Given the description of an element on the screen output the (x, y) to click on. 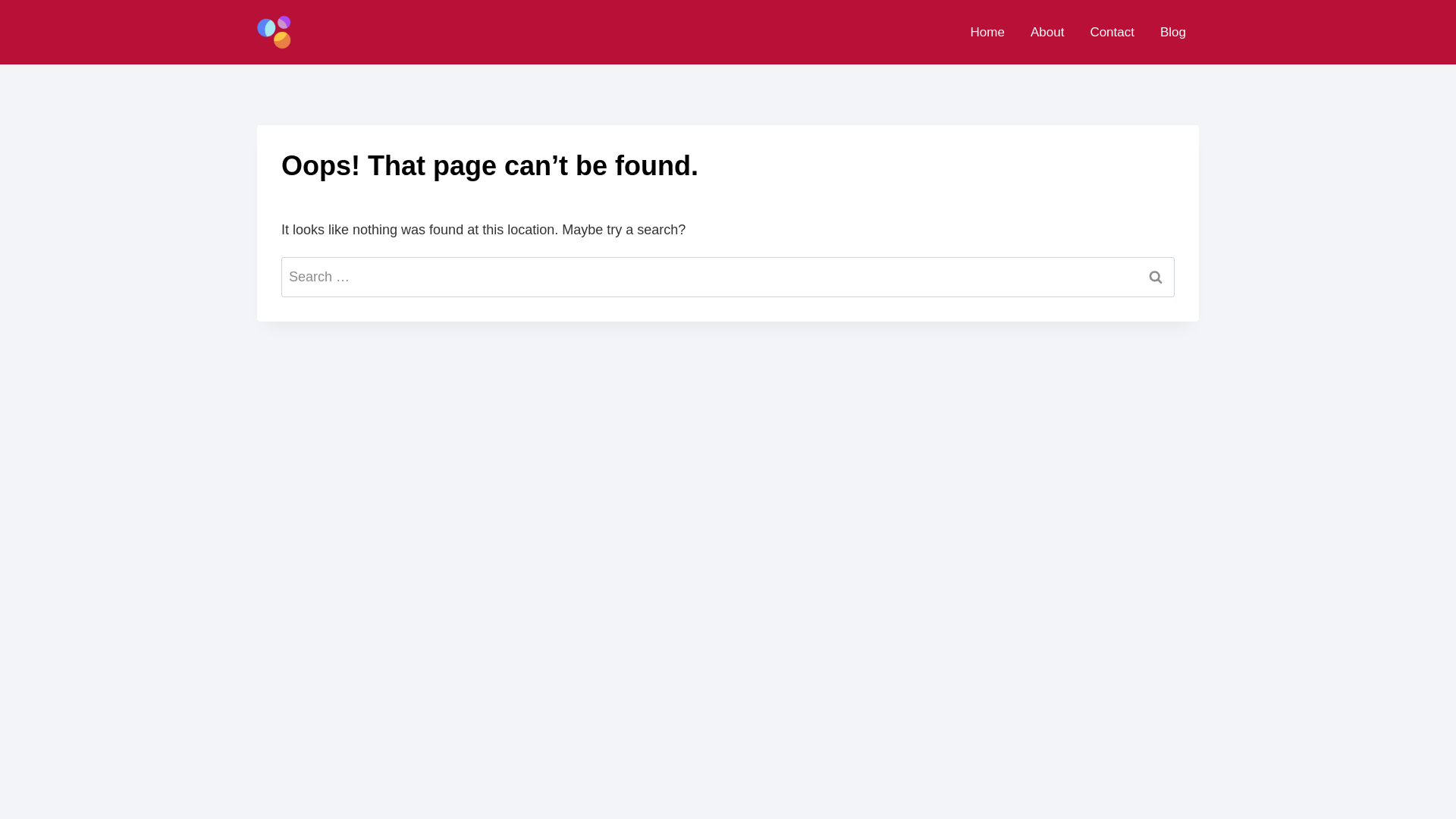
About (1047, 31)
Contact (1112, 31)
Blog (1172, 31)
Search (1155, 276)
Search (1155, 276)
Search (1155, 276)
Home (987, 31)
